Given the description of an element on the screen output the (x, y) to click on. 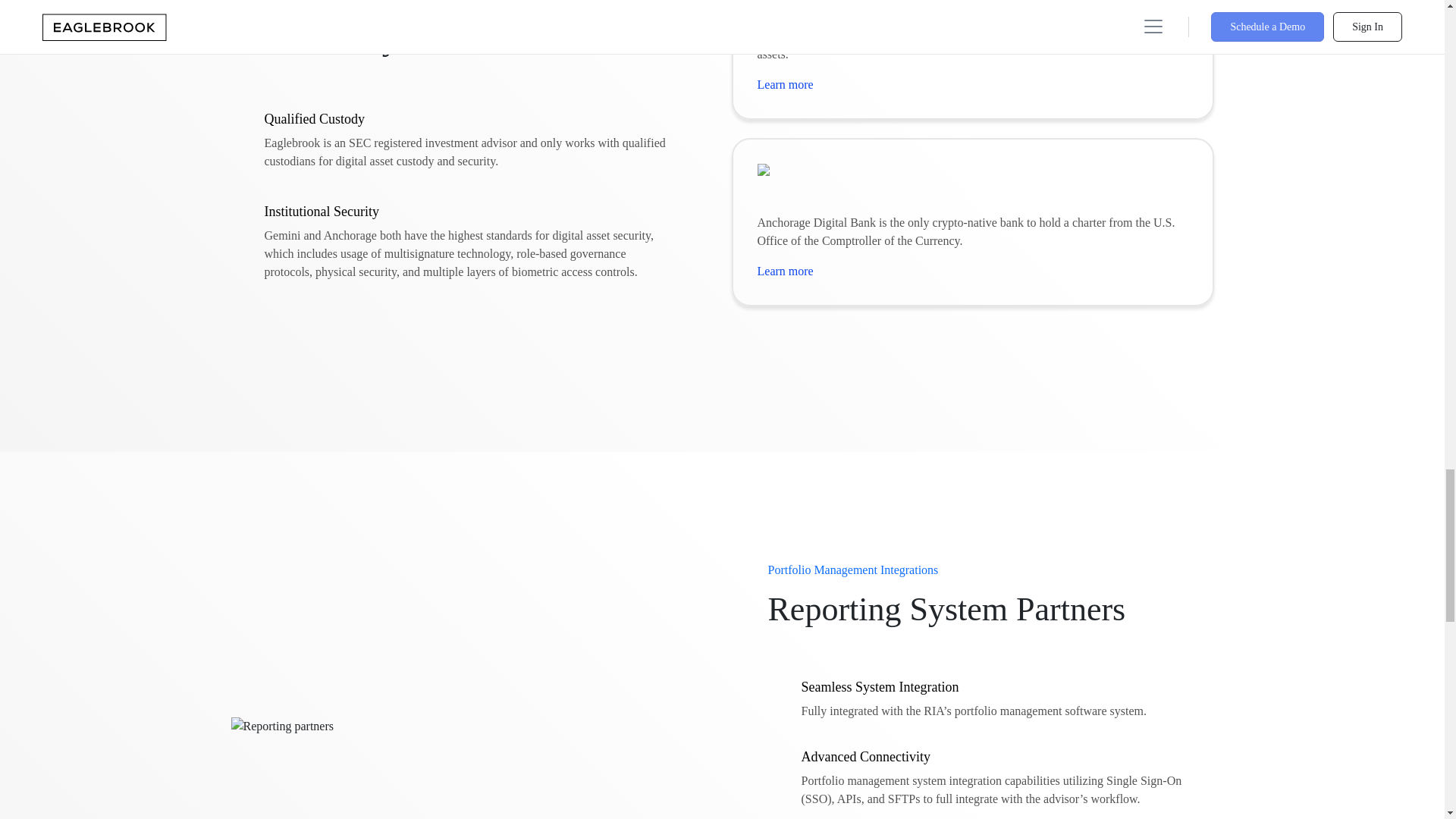
Learn more (784, 271)
Learn more (784, 85)
